Given the description of an element on the screen output the (x, y) to click on. 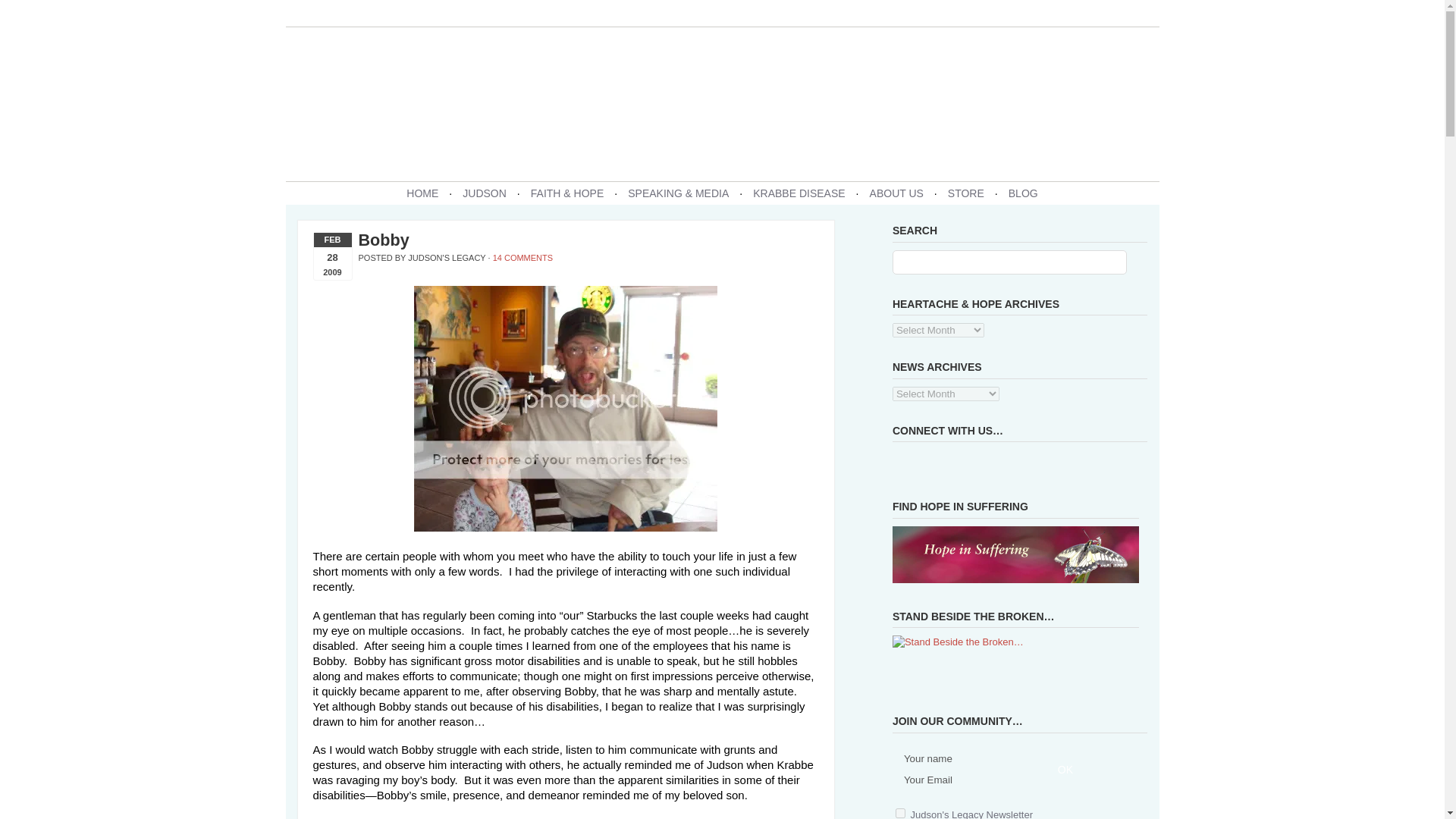
Ok (1064, 769)
Your Email (973, 780)
BLOG (1023, 192)
HOME (421, 192)
Your name (973, 758)
Judson's Legacy (721, 101)
STORE (965, 192)
Find Hope in Suffering (1015, 554)
JUDSON (483, 192)
ABOUT US (896, 192)
on (900, 813)
KRABBE DISEASE (798, 192)
